Given the description of an element on the screen output the (x, y) to click on. 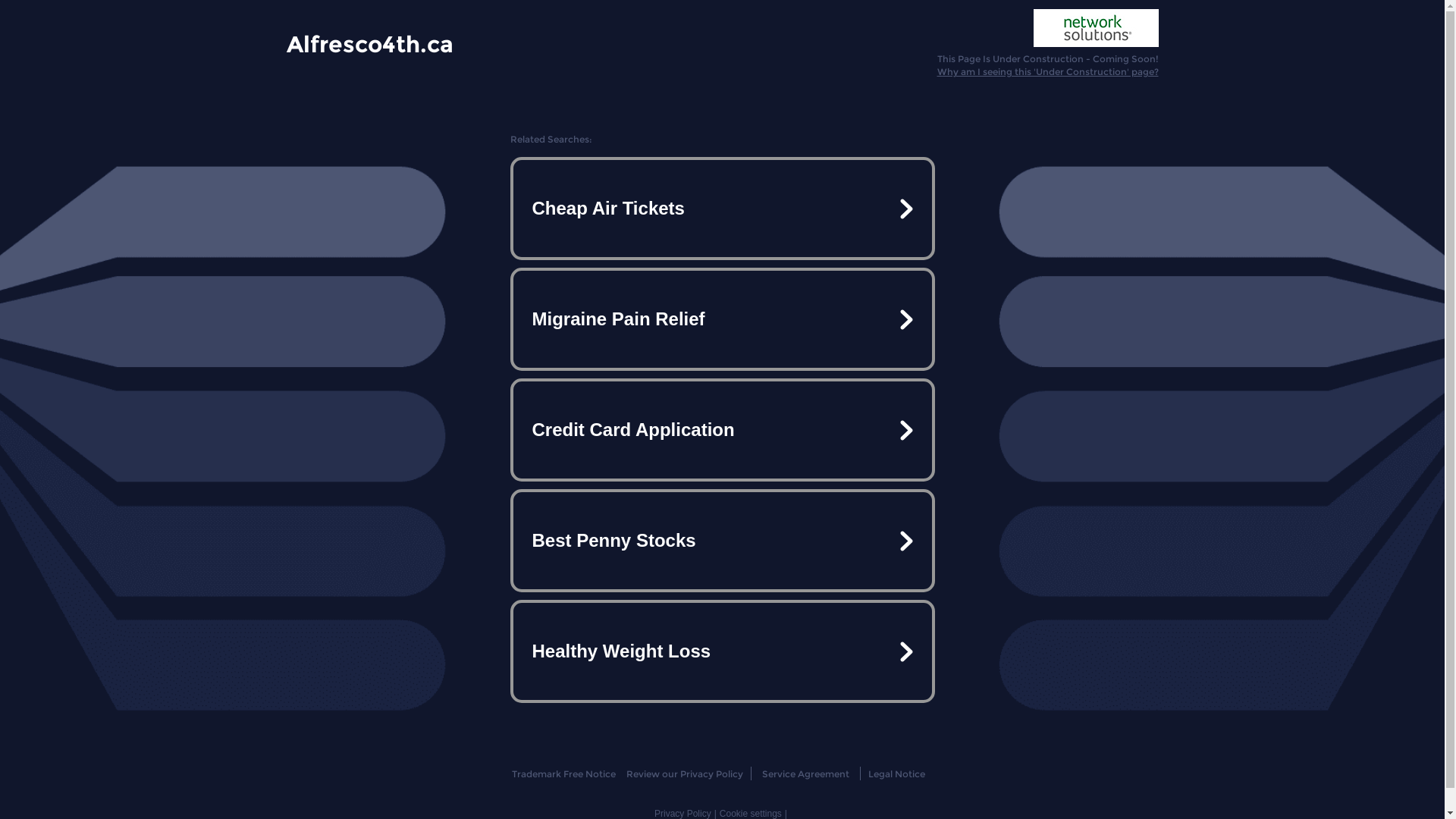
Why am I seeing this 'Under Construction' page? Element type: text (1047, 71)
Healthy Weight Loss Element type: text (721, 650)
Migraine Pain Relief Element type: text (721, 318)
Best Penny Stocks Element type: text (721, 540)
Alfresco4th.ca Element type: text (369, 43)
Credit Card Application Element type: text (721, 429)
Trademark Free Notice Element type: text (563, 773)
Review our Privacy Policy Element type: text (684, 773)
Legal Notice Element type: text (896, 773)
Service Agreement Element type: text (805, 773)
Cheap Air Tickets Element type: text (721, 208)
